Given the description of an element on the screen output the (x, y) to click on. 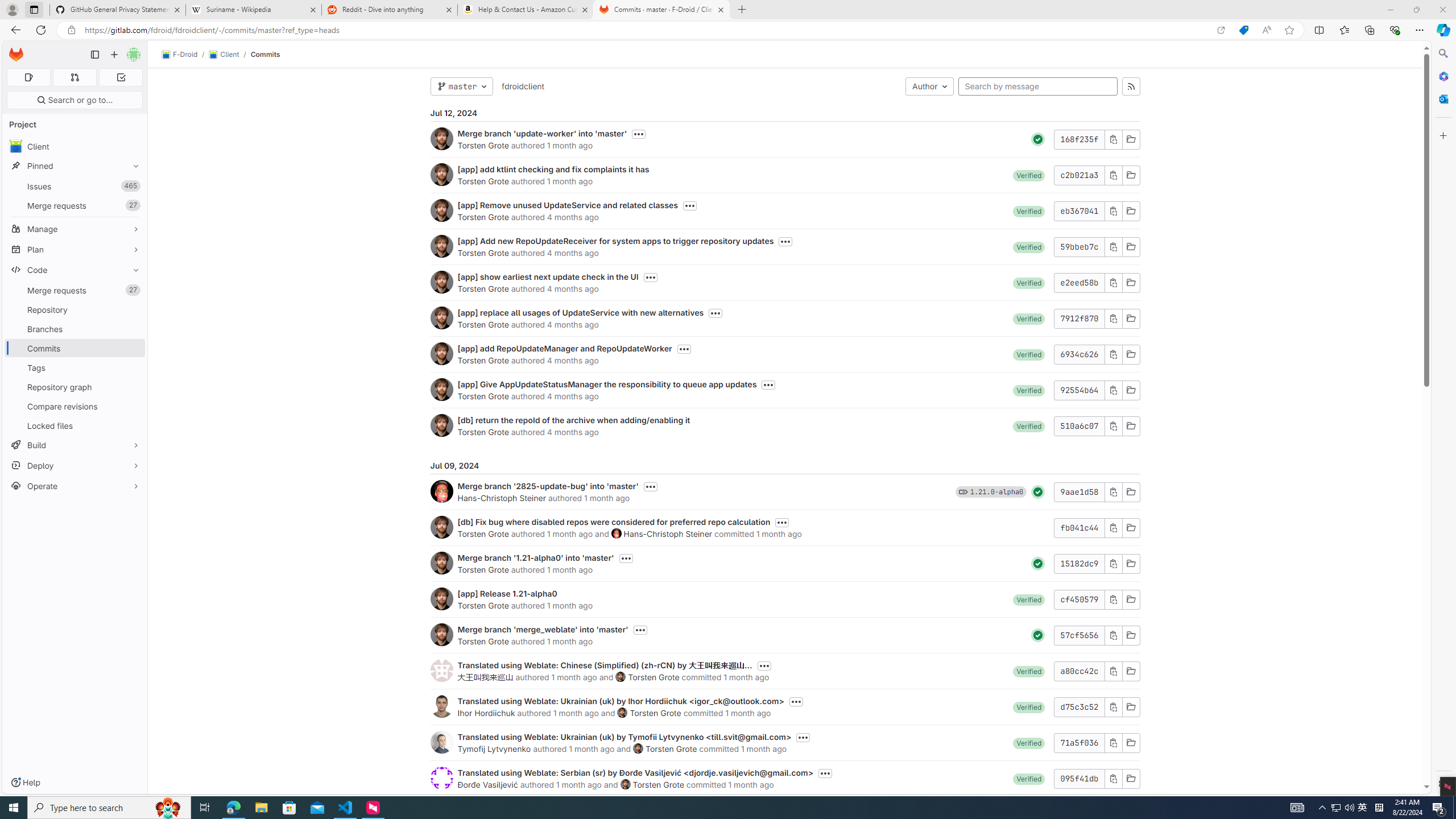
[app] Remove unused UpdateService and related classes (567, 204)
Repository graph (74, 386)
Issues 465 (74, 185)
Tags (74, 367)
Tags (74, 367)
Suriname - Wikipedia (253, 9)
Pipeline: passed (1037, 635)
Jul 12, 2024 (784, 113)
fdroidclient (522, 85)
Hans-Christoph Steiner's avatar (616, 533)
